Given the description of an element on the screen output the (x, y) to click on. 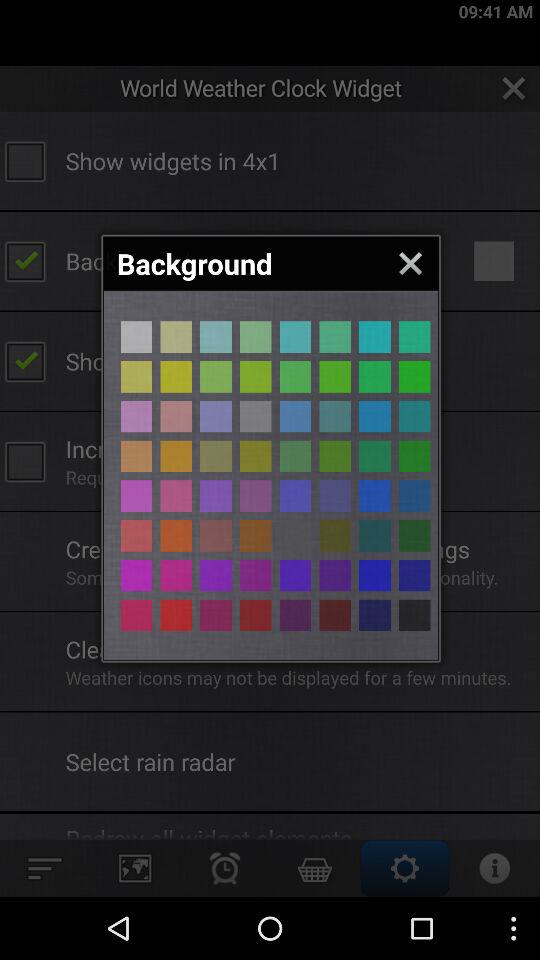
the button is used to color background option (414, 336)
